Given the description of an element on the screen output the (x, y) to click on. 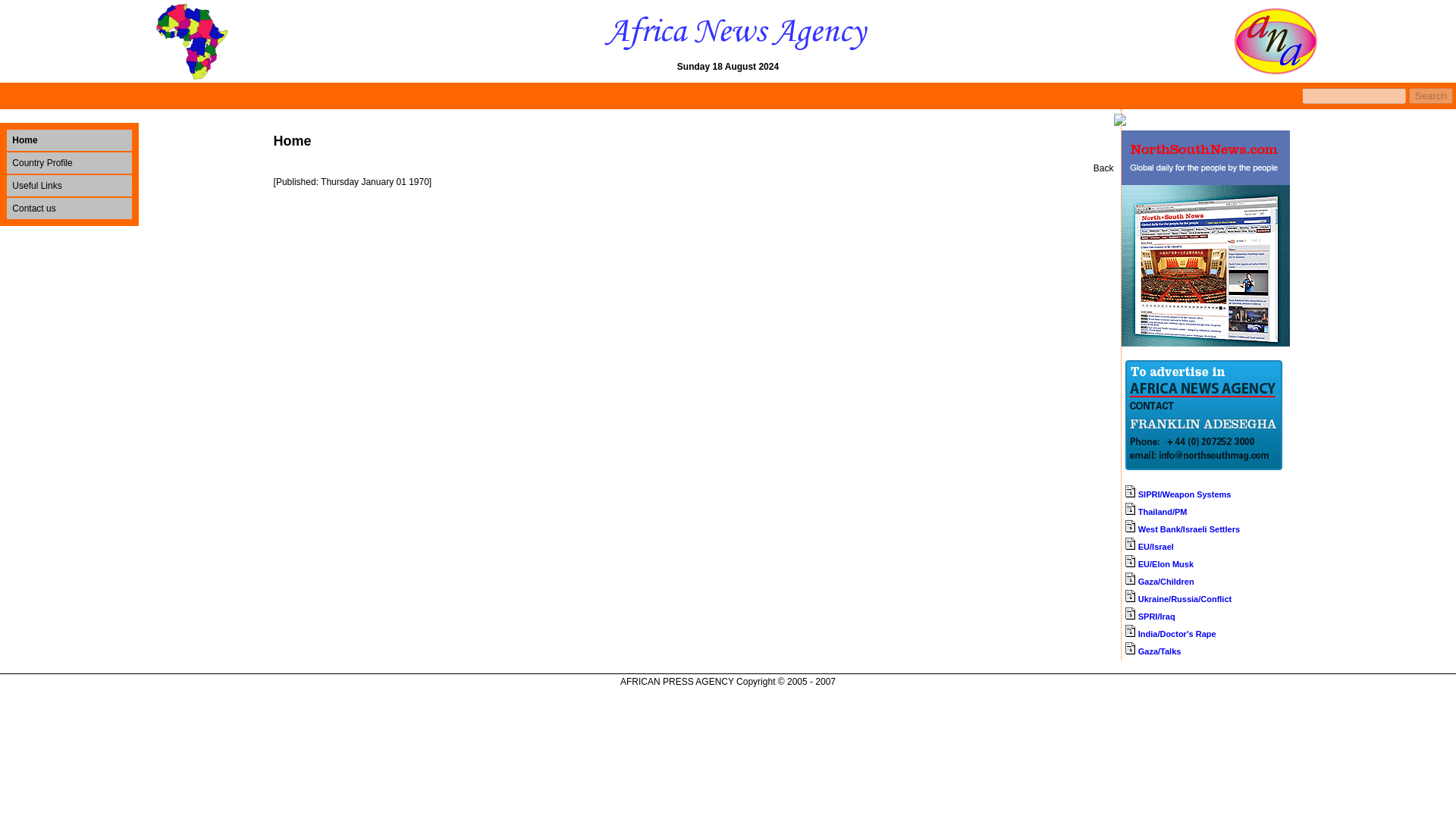
Contact us (33, 208)
Home (24, 140)
News icon (1128, 595)
Search (1431, 95)
Search (1431, 95)
News icon (1128, 613)
News icon (1128, 561)
Country Profile (41, 163)
News icon (1128, 508)
News icon (1128, 630)
